Given the description of an element on the screen output the (x, y) to click on. 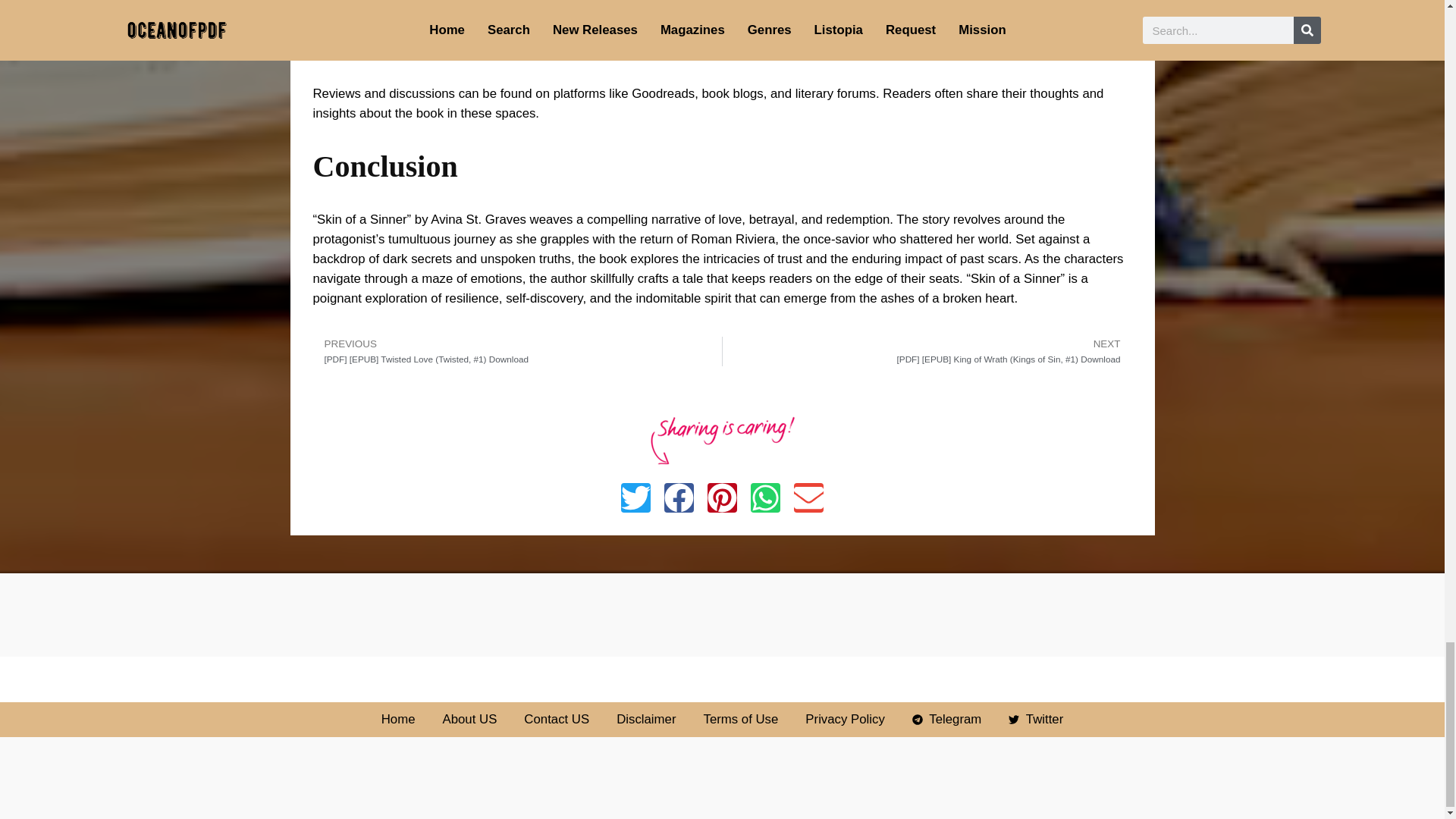
Disclaimer (645, 719)
Telegram (946, 719)
Privacy Policy (844, 719)
About US (469, 719)
Contact US (556, 719)
Home (397, 719)
Twitter (1035, 719)
Terms of Use (740, 719)
